Given the description of an element on the screen output the (x, y) to click on. 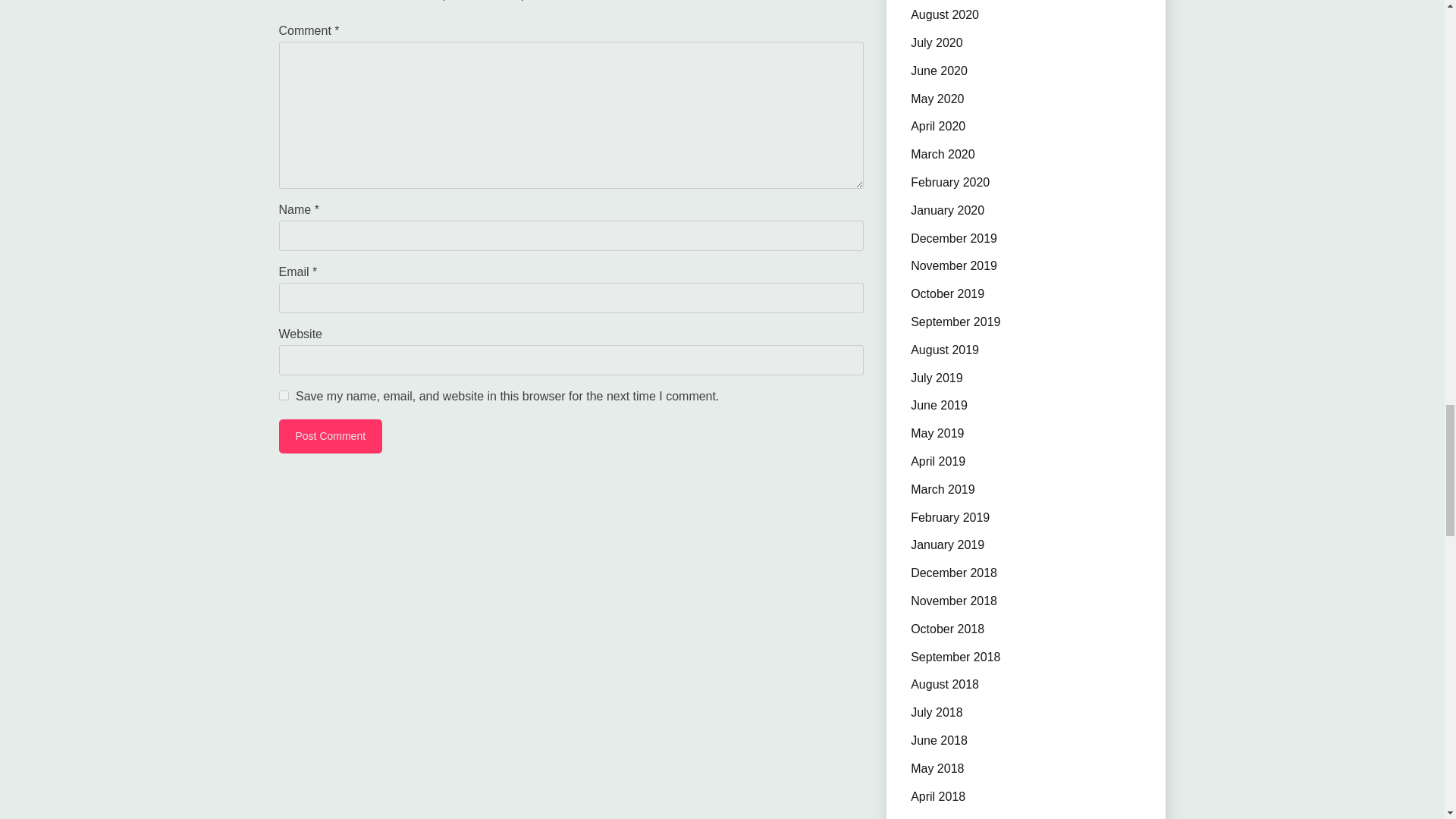
Post Comment (330, 436)
yes (283, 395)
Post Comment (330, 436)
